Given the description of an element on the screen output the (x, y) to click on. 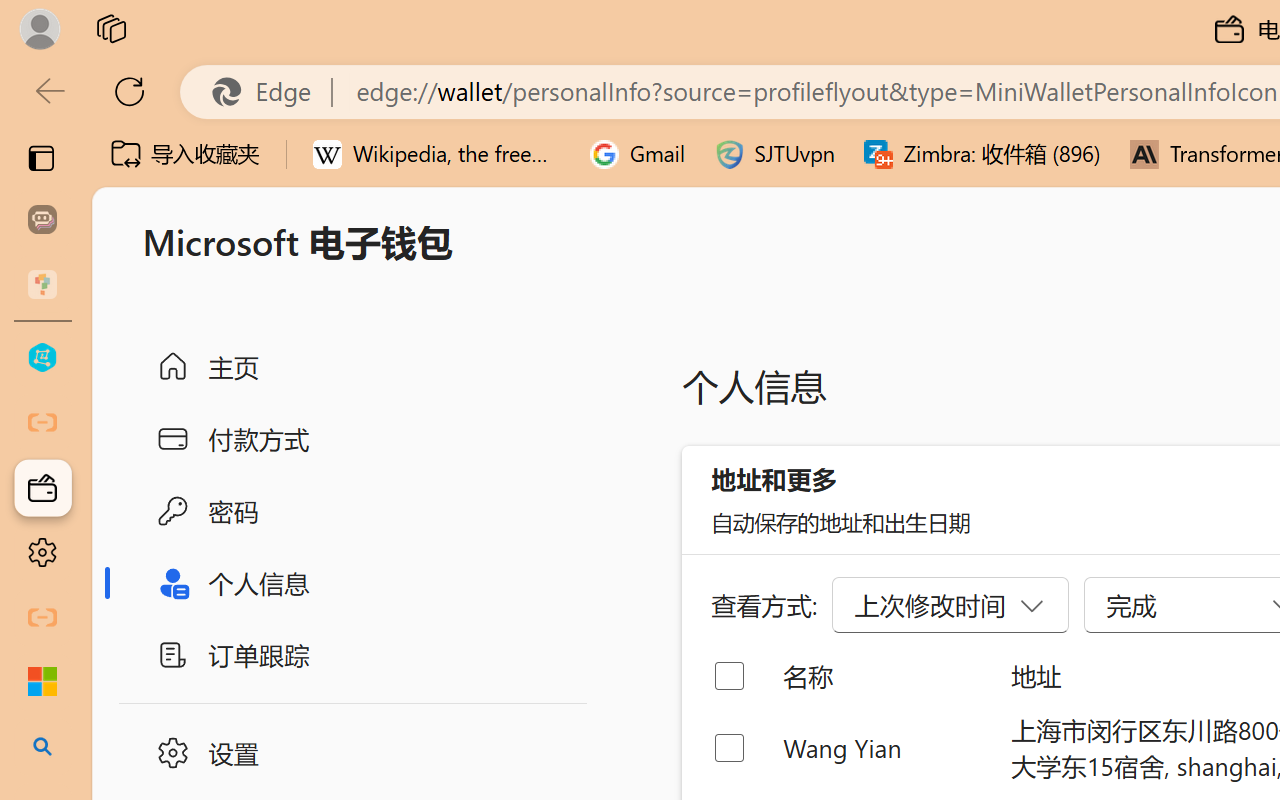
Edge (269, 91)
